Given the description of an element on the screen output the (x, y) to click on. 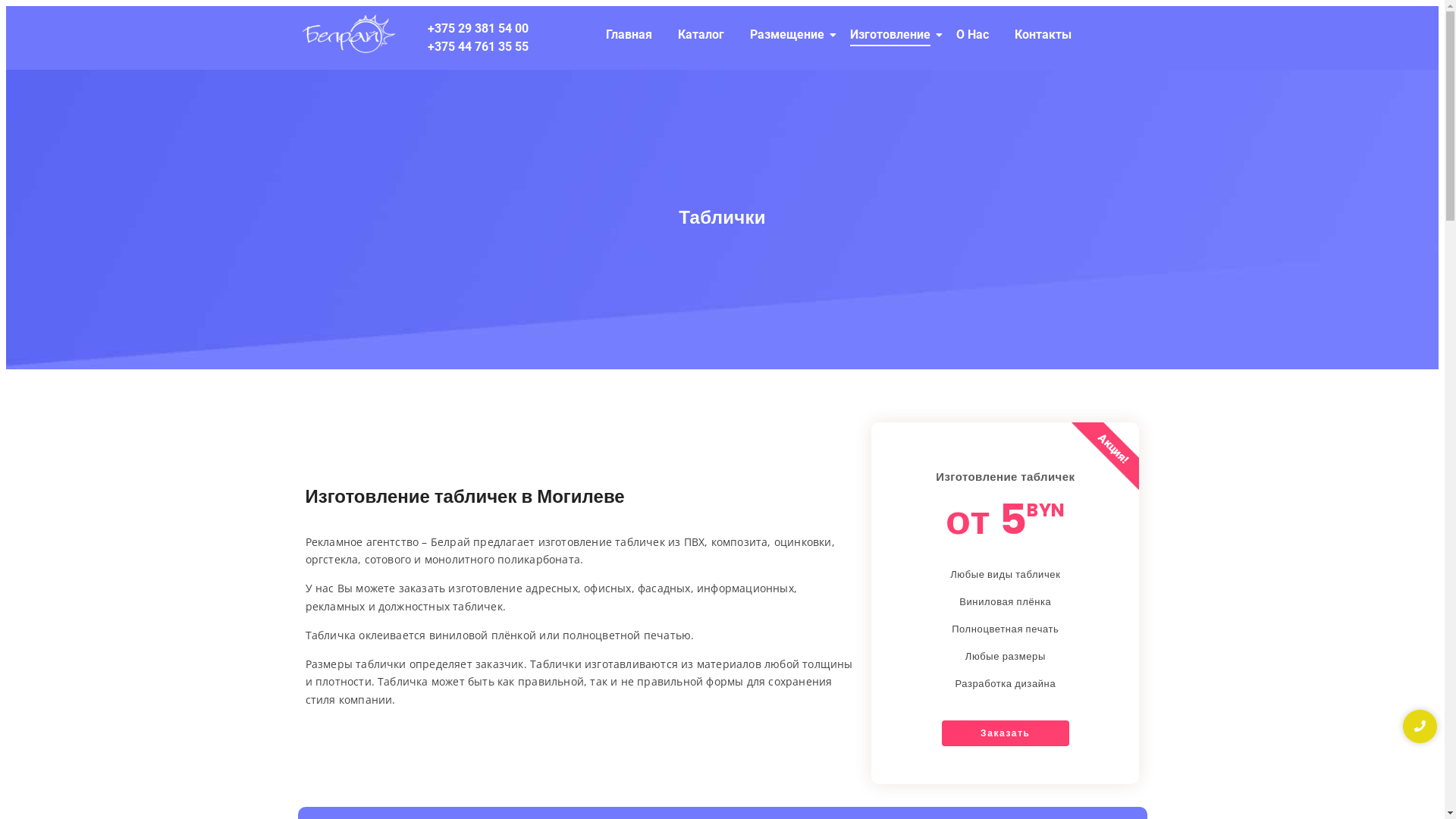
+375 44 761 35 55 Element type: text (477, 46)
+375 29 381 54 00 Element type: text (477, 28)
